Given the description of an element on the screen output the (x, y) to click on. 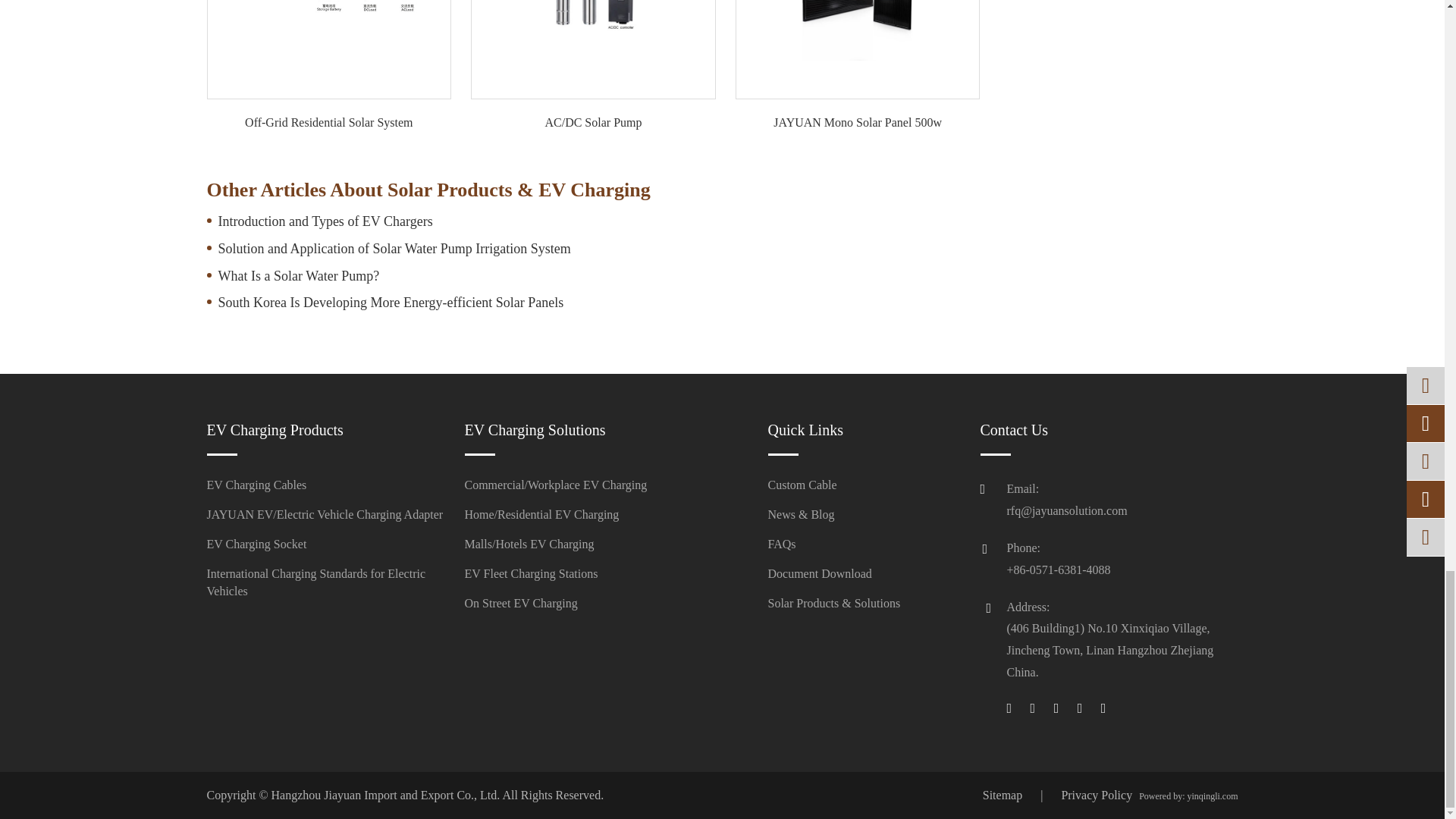
Off-Grid Residential Solar System (328, 30)
JAYUAN Mono Solar Panel 500w (857, 30)
